Given the description of an element on the screen output the (x, y) to click on. 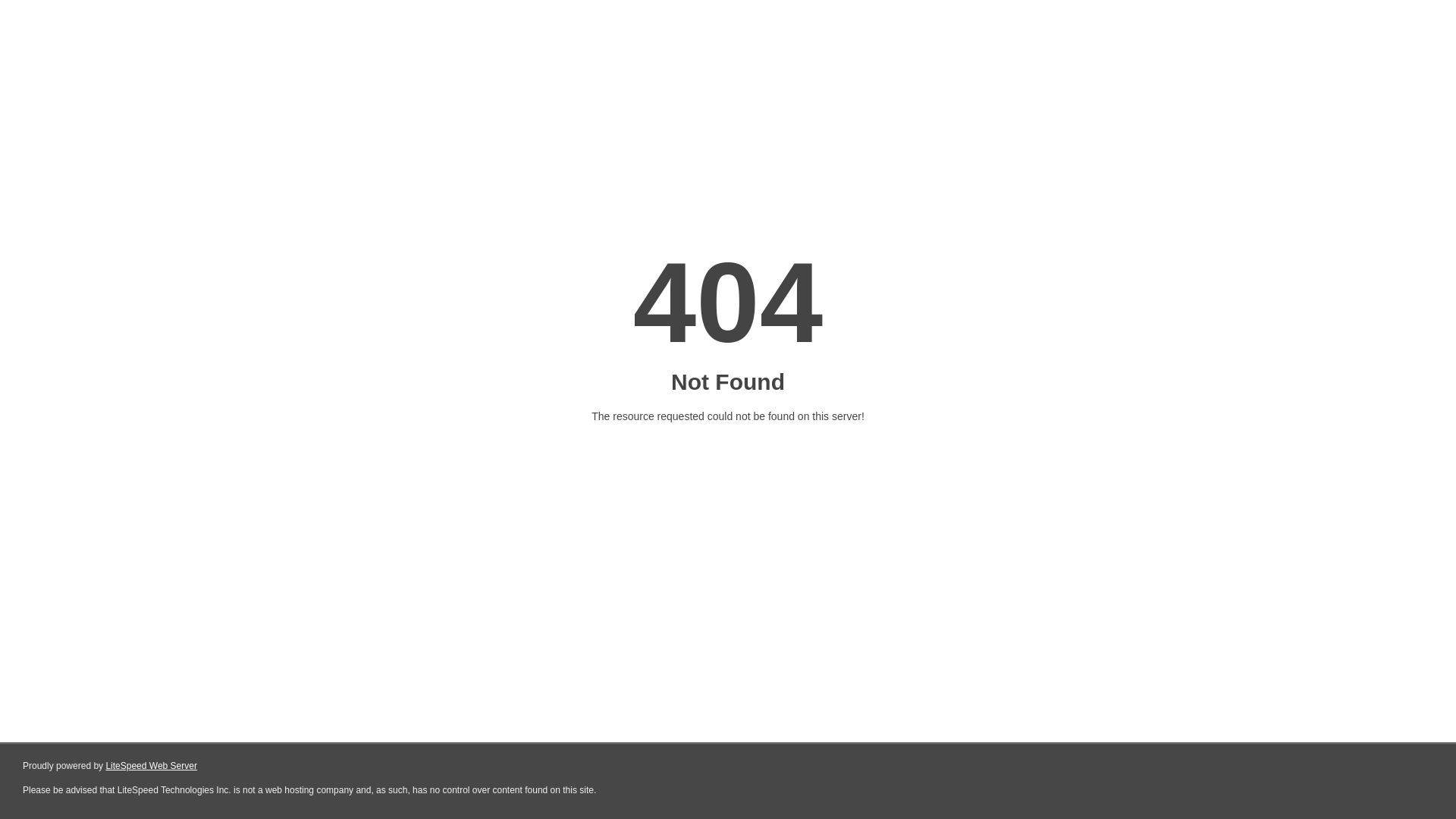
LiteSpeed Web Server Element type: text (151, 765)
